Given the description of an element on the screen output the (x, y) to click on. 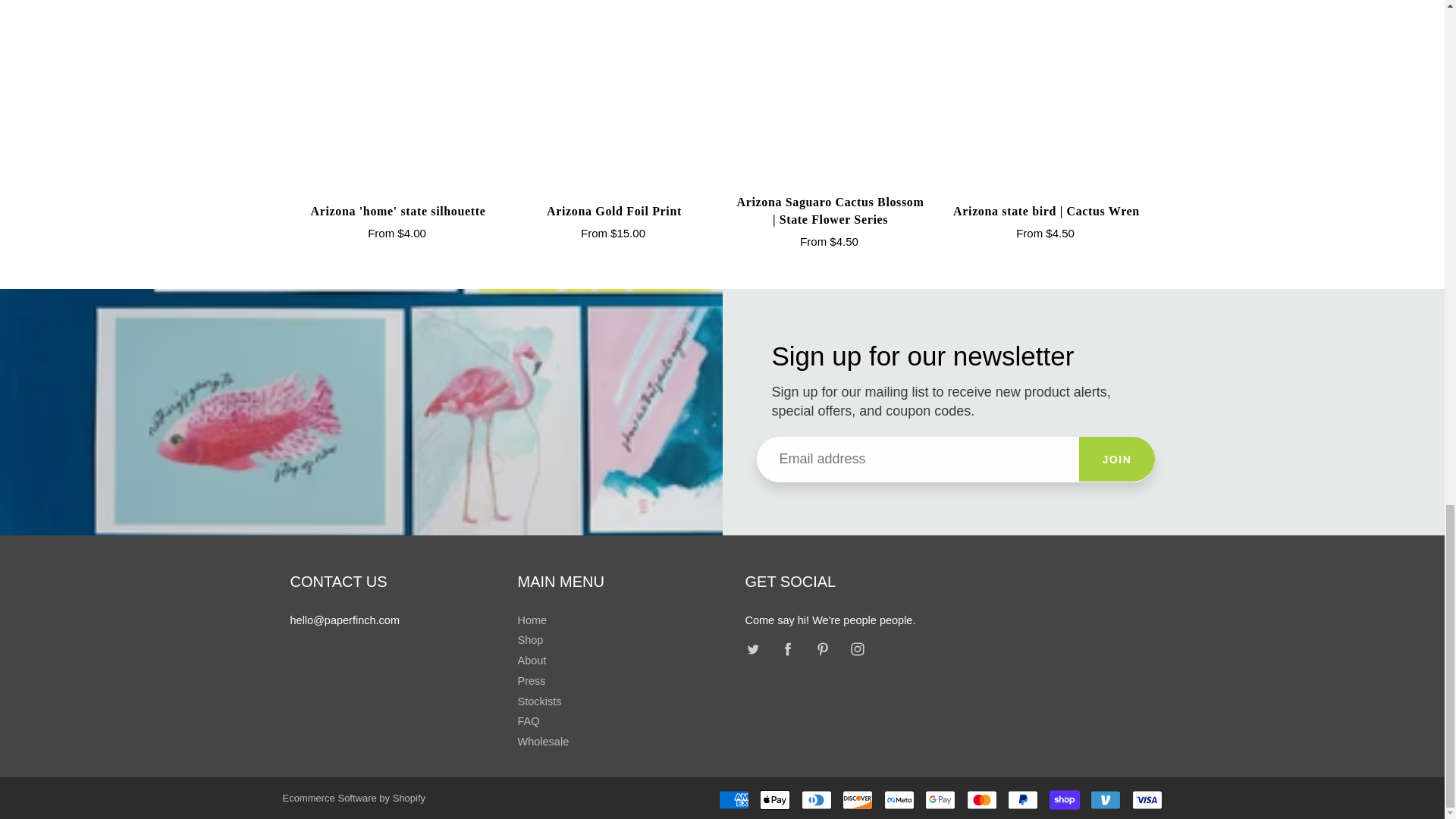
Venmo (1105, 799)
Diners Club (816, 799)
Visa (1146, 799)
Apple Pay (775, 799)
Discover (857, 799)
PayPal (1022, 799)
Mastercard (981, 799)
Google Pay (939, 799)
American Express (734, 799)
Meta Pay (898, 799)
